Given the description of an element on the screen output the (x, y) to click on. 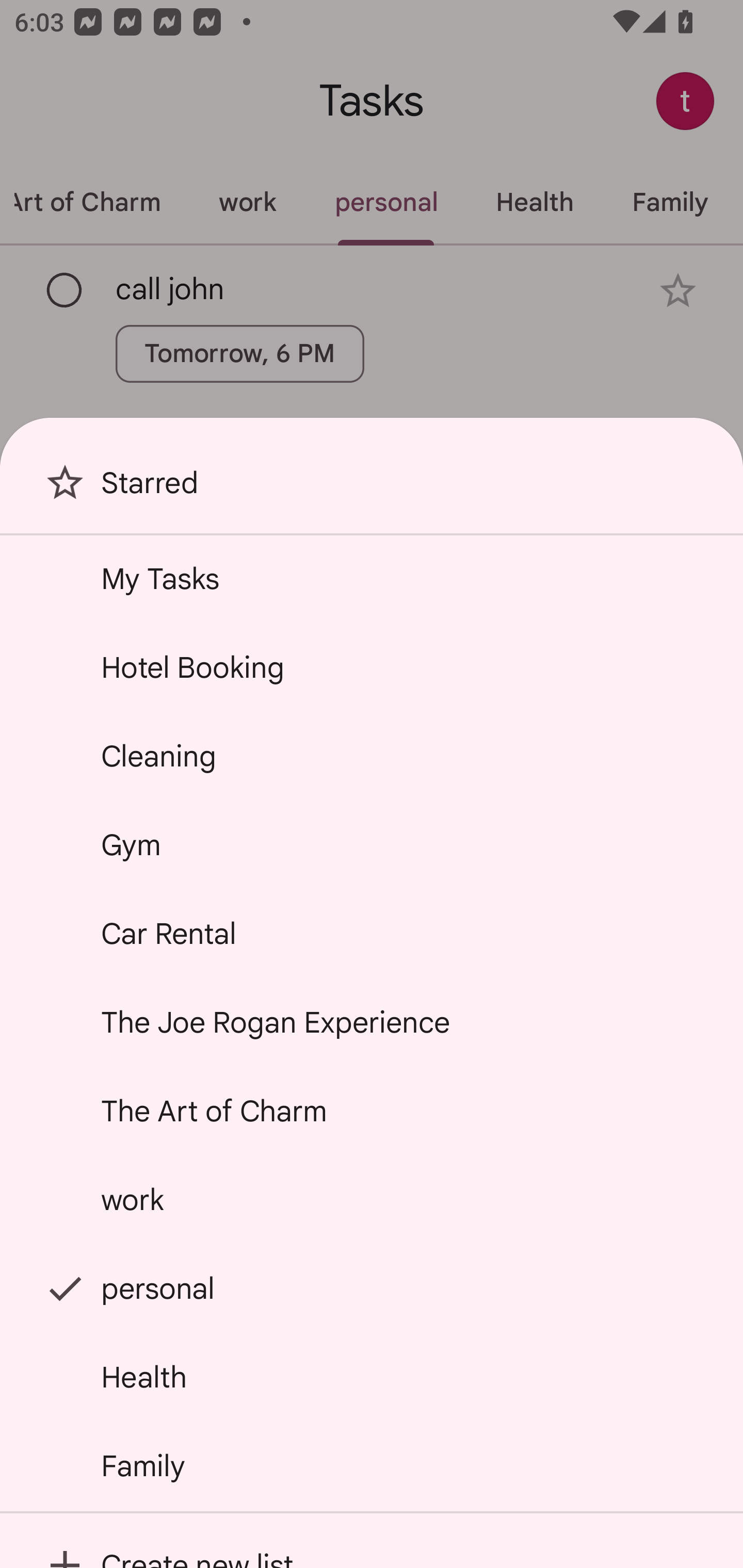
Starred (371, 489)
My Tasks (371, 578)
Hotel Booking (371, 667)
Cleaning (371, 756)
Gym (371, 844)
Car Rental (371, 933)
The Joe Rogan Experience (371, 1022)
The Art of Charm (371, 1110)
work (371, 1200)
personal (371, 1287)
Health (371, 1377)
Family (371, 1465)
